Given the description of an element on the screen output the (x, y) to click on. 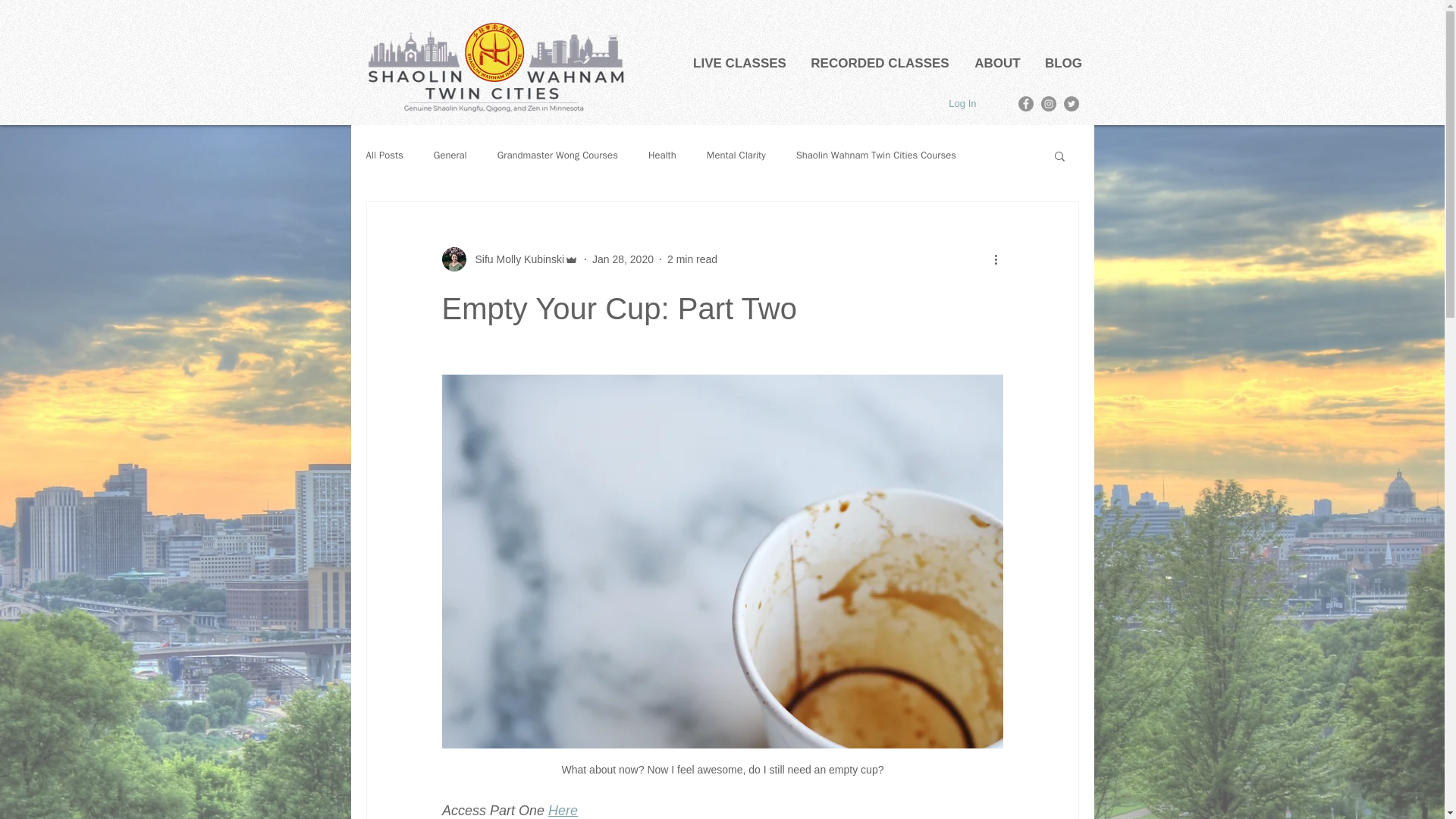
Health (662, 155)
Sifu Molly Kubinski (509, 259)
2 min read (691, 259)
General (450, 155)
Shaolin Wahnam Twin Cities Courses (876, 155)
Log In (962, 104)
Jan 28, 2020 (622, 259)
Mental Clarity (735, 155)
All Posts (384, 155)
Grandmaster Wong Courses (557, 155)
Here (563, 810)
Sifu Molly Kubinski (514, 259)
BLOG (1062, 62)
